Given the description of an element on the screen output the (x, y) to click on. 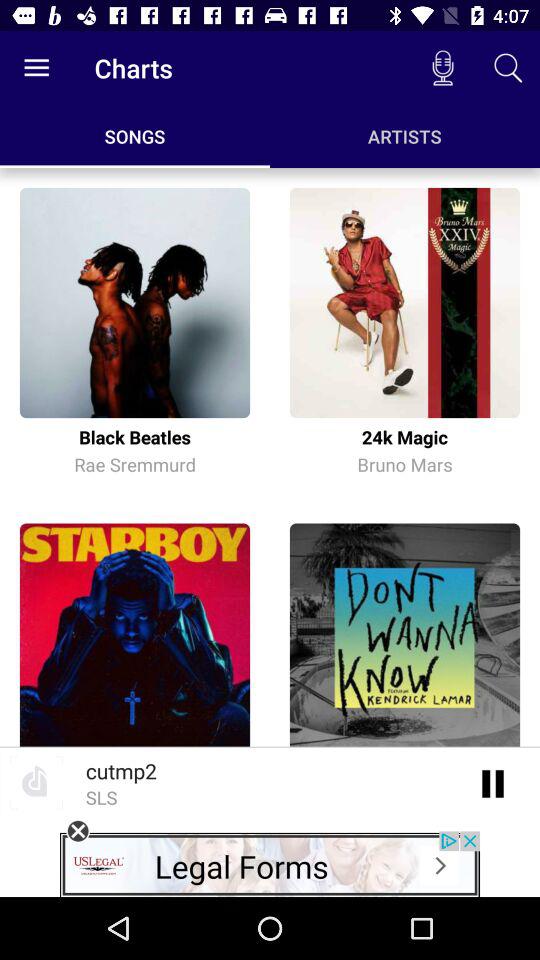
an (493, 782)
